Given the description of an element on the screen output the (x, y) to click on. 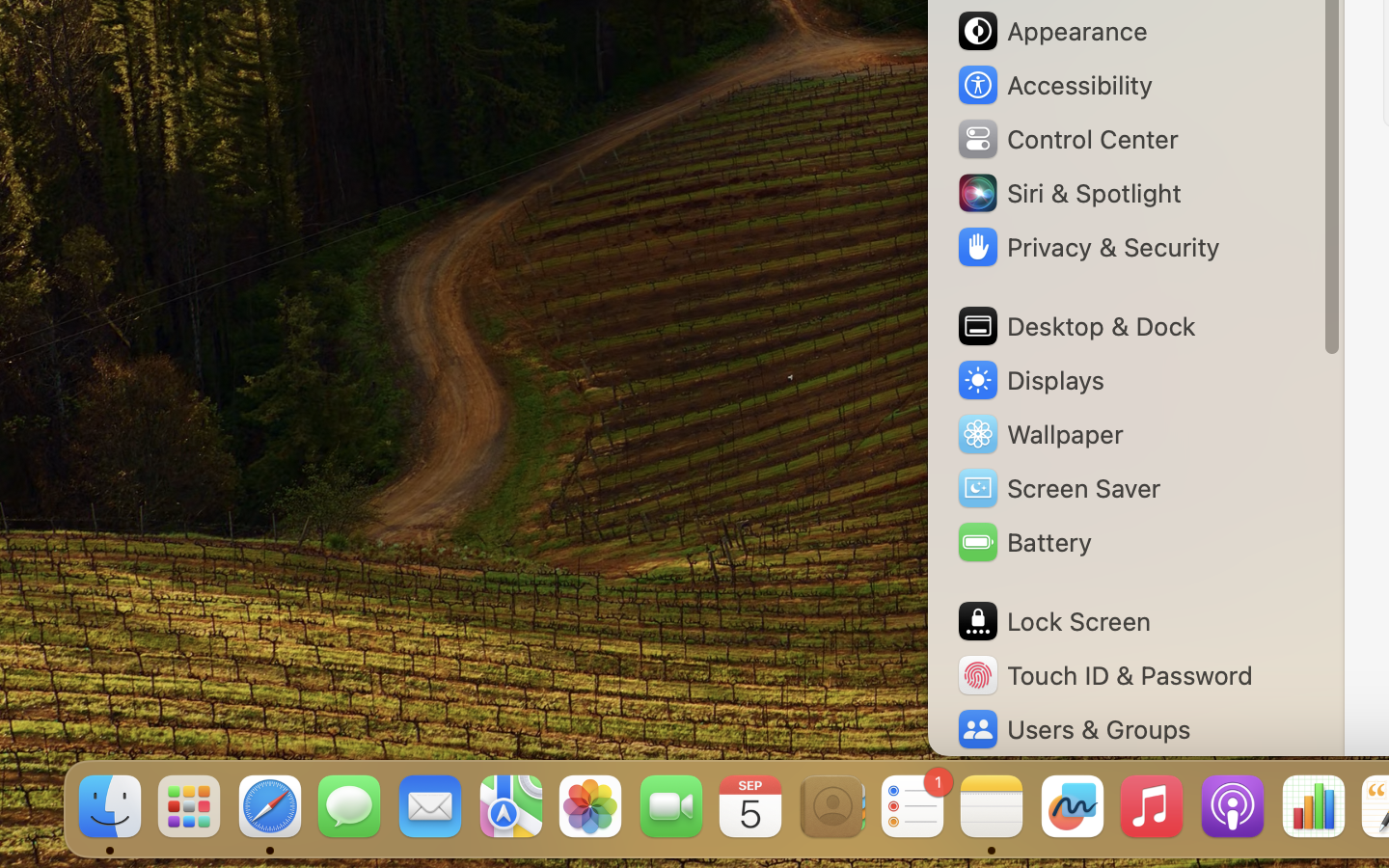
Siri & Spotlight Element type: AXStaticText (1067, 192)
Battery Element type: AXStaticText (1022, 541)
Desktop & Dock Element type: AXStaticText (1075, 325)
Appearance Element type: AXStaticText (1050, 30)
Accessibility Element type: AXStaticText (1053, 84)
